Given the description of an element on the screen output the (x, y) to click on. 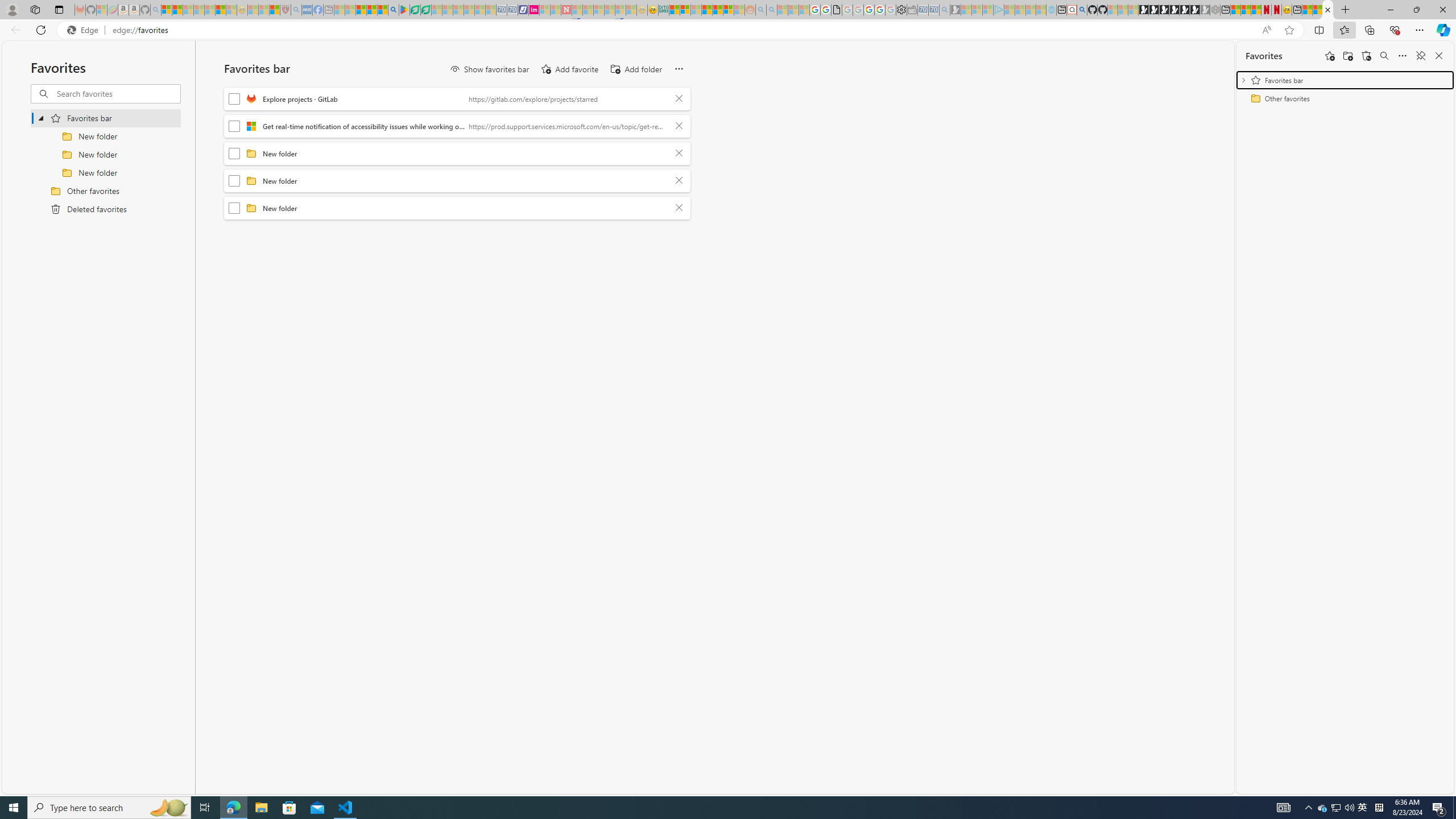
Wildlife - MSN (1307, 9)
Restore deleted favorites (1366, 55)
